Given the description of an element on the screen output the (x, y) to click on. 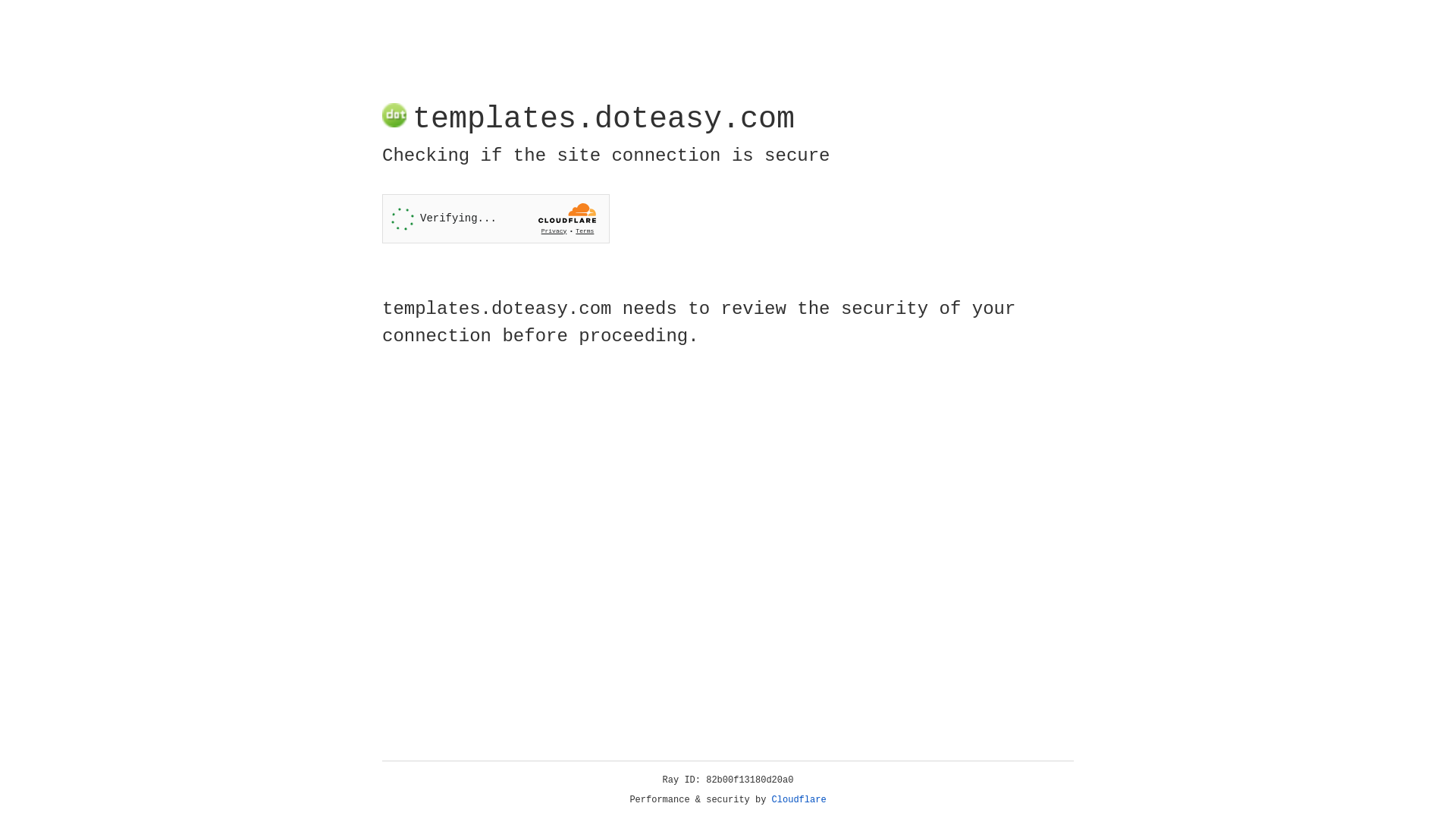
Cloudflare Element type: text (798, 799)
Widget containing a Cloudflare security challenge Element type: hover (495, 218)
